Given the description of an element on the screen output the (x, y) to click on. 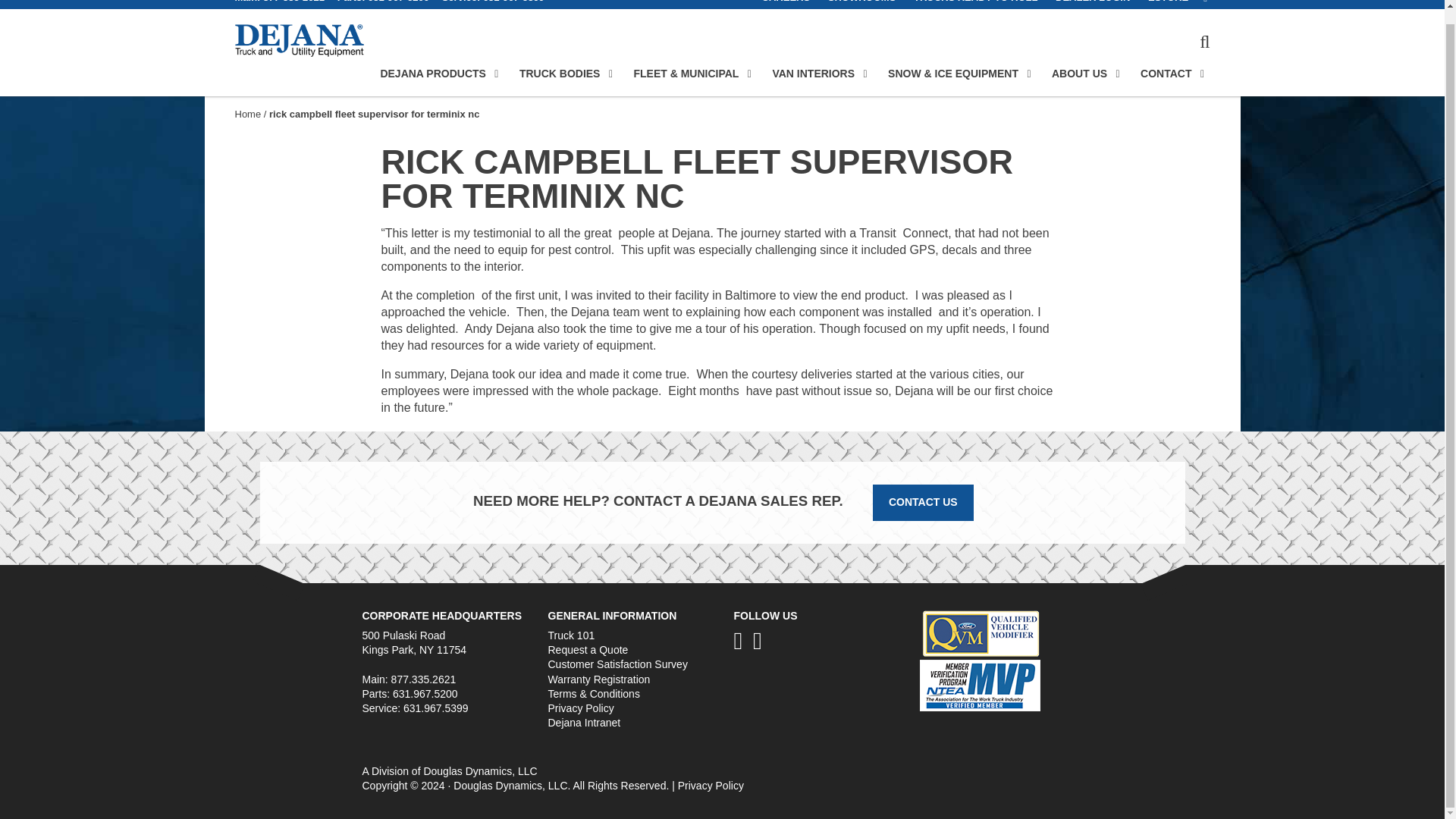
TRUCK BODIES (559, 73)
Submenu for Truck Bodies (609, 73)
Submenu for Dejana Products (496, 73)
DEJANA PRODUCTS (433, 73)
